Given the description of an element on the screen output the (x, y) to click on. 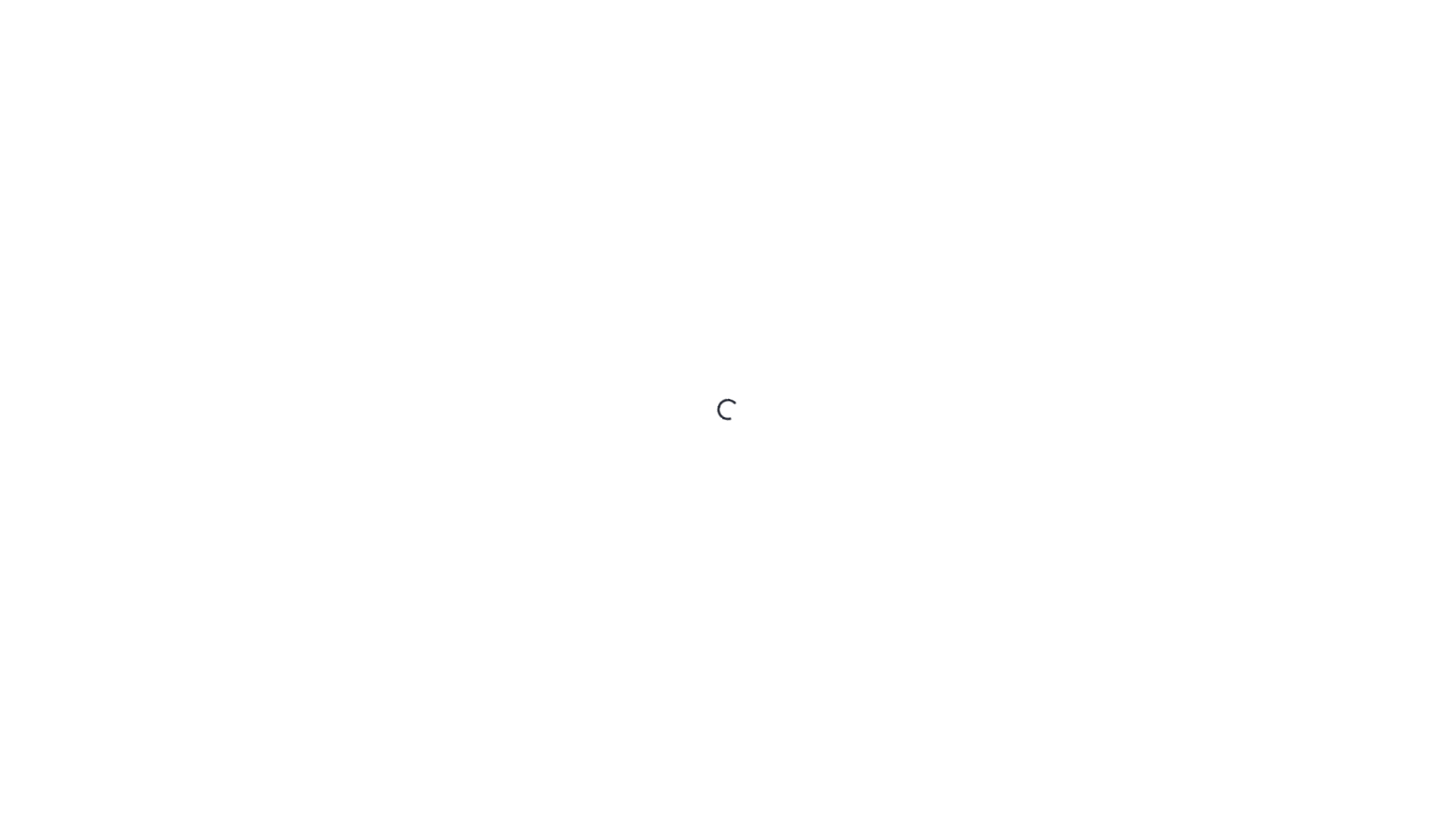
PRE OWNED Element type: text (624, 631)
HOME Element type: text (603, 214)
FWA TRACTORS Element type: text (636, 331)
COMPACT TRACTORS Element type: text (648, 433)
TYRES & RIMS Element type: text (631, 574)
HAY & SILAGE Element type: text (632, 392)
PRECISION NEWS & PRODUCTS Element type: text (671, 710)
TELEHANDLERS/LOADERS Element type: text (656, 536)
SPREADERS Element type: text (627, 515)
OUR SERVICES Element type: text (620, 648)
HARVESTERS Element type: text (630, 372)
DOWERIN (08) 9631 1006 Element type: text (624, 150)
NEW AFS CONNECT FARM APP Element type: text (667, 771)
PRECISION AG STOCK FOR SALE Element type: text (671, 690)
PRECISION AGRICULTURE Element type: text (656, 669)
SUPPORT LINE Element type: text (635, 730)
VEHICLES Element type: text (610, 592)
SELF PROPELLED SPRAYERS Element type: text (661, 495)
DEEP RIPPERS Element type: text (633, 454)
TOWED SPRAYERS Element type: text (641, 556)
WONGAN HILLS (08) 9671 1211 Element type: text (619, 66)
DALWALLINU (08) 9661 1002 Element type: text (631, 130)
4WD TRACTORS Element type: text (637, 351)
NEW VEHICLES Element type: text (632, 613)
WONGAN HILLS (08) 9671 1211 Element type: text (631, 189)
MACHINERY Element type: text (615, 230)
SUPPORT INFORMATION & INSTRUCTIONS Element type: text (692, 790)
PRECISION AG STOCK FOR SALE Element type: text (669, 290)
NORTHAM (08) 9622 6344 Element type: text (627, 171)
TILLAGE Element type: text (619, 310)
MISC EQUIPMENT Element type: text (639, 474)
CHASER BINS Element type: text (631, 413)
DOWERIN (08) 9631 1006 Element type: text (610, 32)
RTK NETWORK Element type: text (635, 751)
USED MACHINERY Element type: text (638, 269)
NEW MACHINERY SHOWROOM Element type: text (665, 251)
NORTHAM (08) 9622 6344 Element type: text (612, 49)
BROOKTON (08) 9642 1108 Element type: text (627, 109)
